Given the description of an element on the screen output the (x, y) to click on. 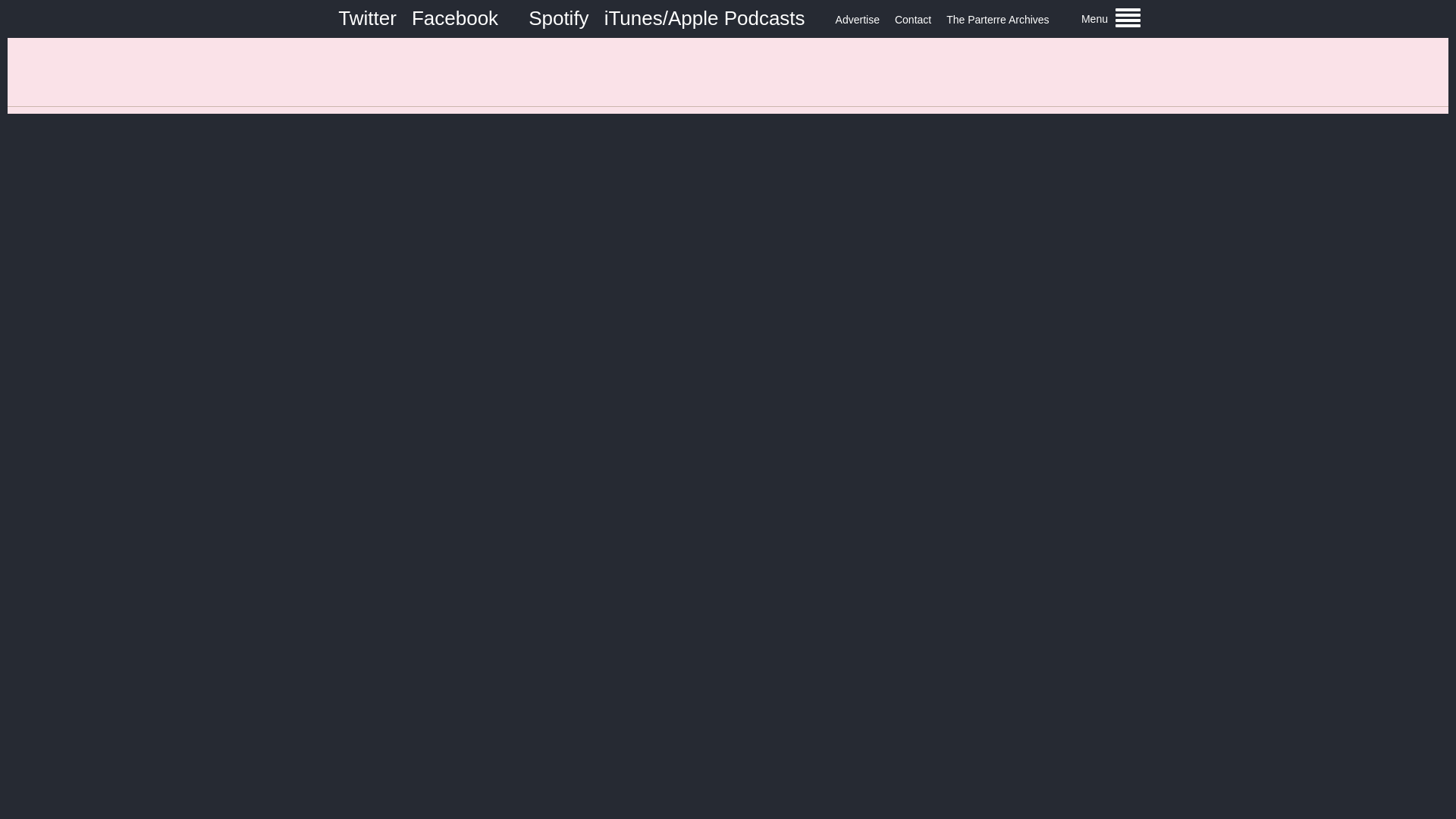
Contact (913, 19)
Home (728, 71)
Advertise (857, 19)
Twitter (366, 17)
Menu (1110, 18)
The Parterre Archives (997, 19)
Spotify (558, 17)
Facebook (454, 17)
